Given the description of an element on the screen output the (x, y) to click on. 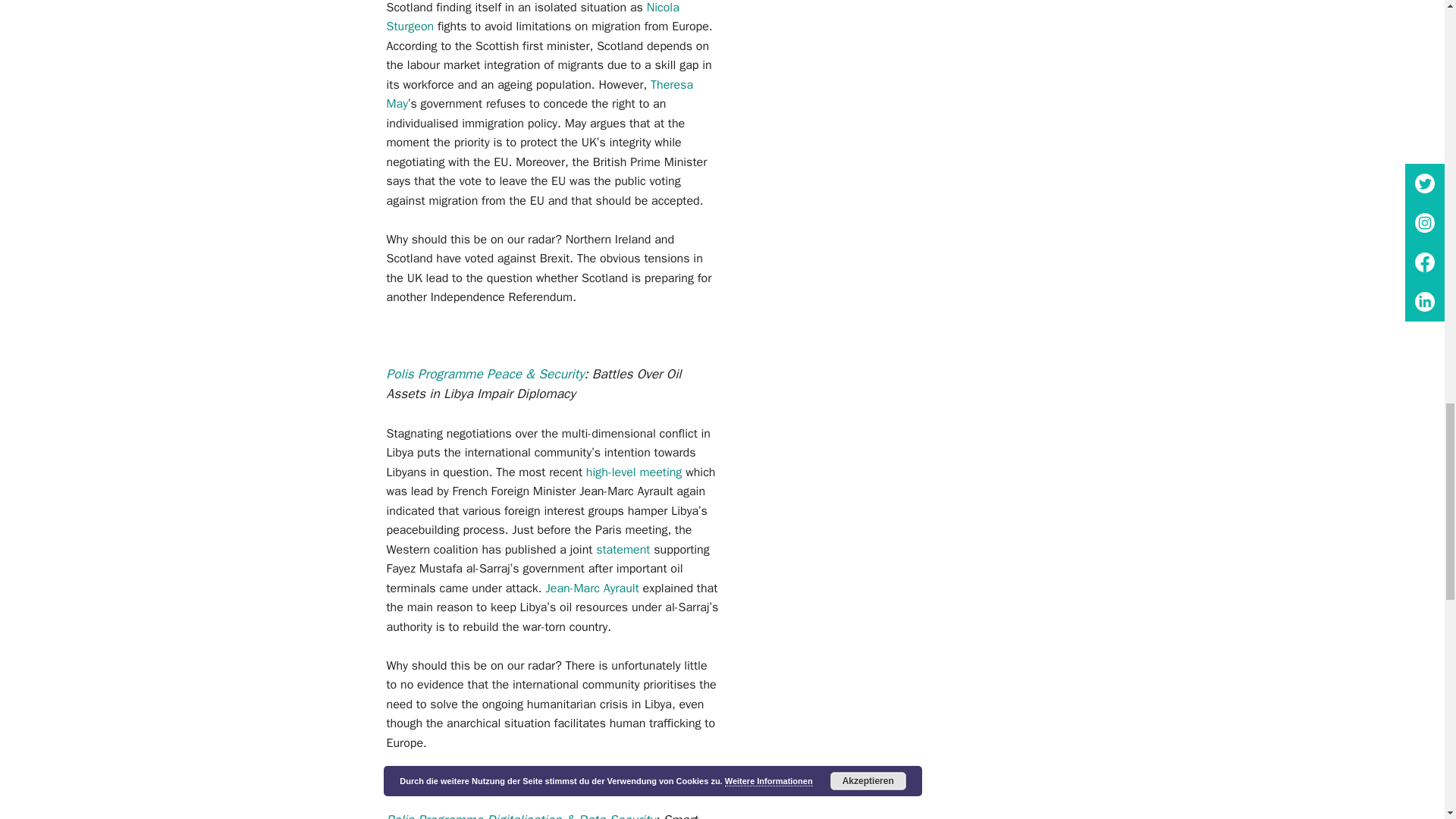
statement (624, 549)
Theresa May (540, 94)
Jean-Marc Ayrault (591, 588)
Nicola Sturgeon (533, 17)
high-level meeting (634, 472)
